Given the description of an element on the screen output the (x, y) to click on. 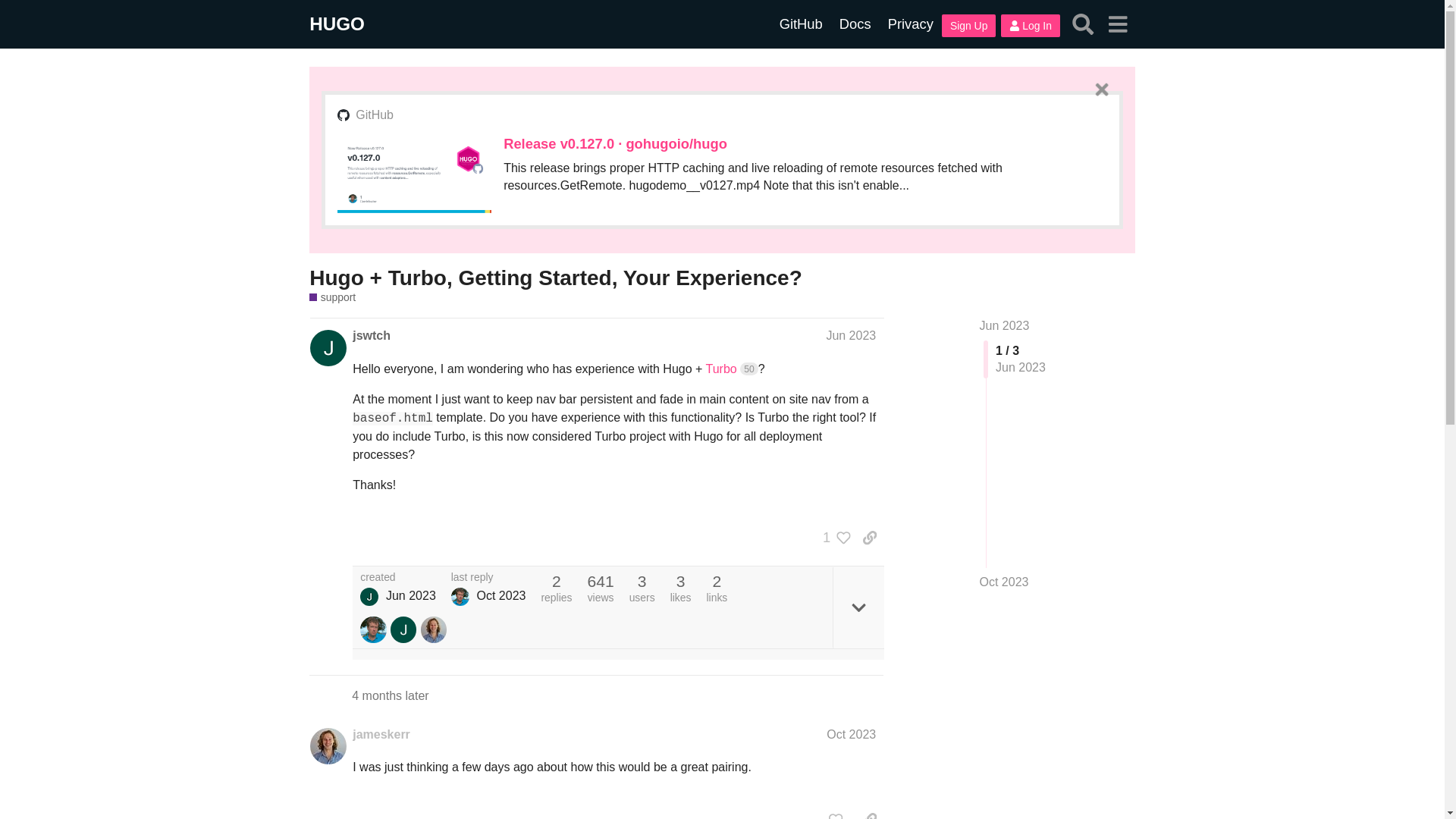
Our Privacy Policy (910, 23)
HUGO (336, 23)
Docs (855, 23)
Docs (855, 23)
Dismiss this banner (1101, 88)
Jump to the last post (1004, 581)
Jun 2023 (1004, 325)
copy a link to this post to clipboard (869, 537)
Oct 2023 (1004, 582)
1 (832, 537)
Privacy (910, 23)
Log In (1030, 25)
1 person liked this post (832, 537)
jswtch (368, 597)
Sign Up (968, 25)
